Given the description of an element on the screen output the (x, y) to click on. 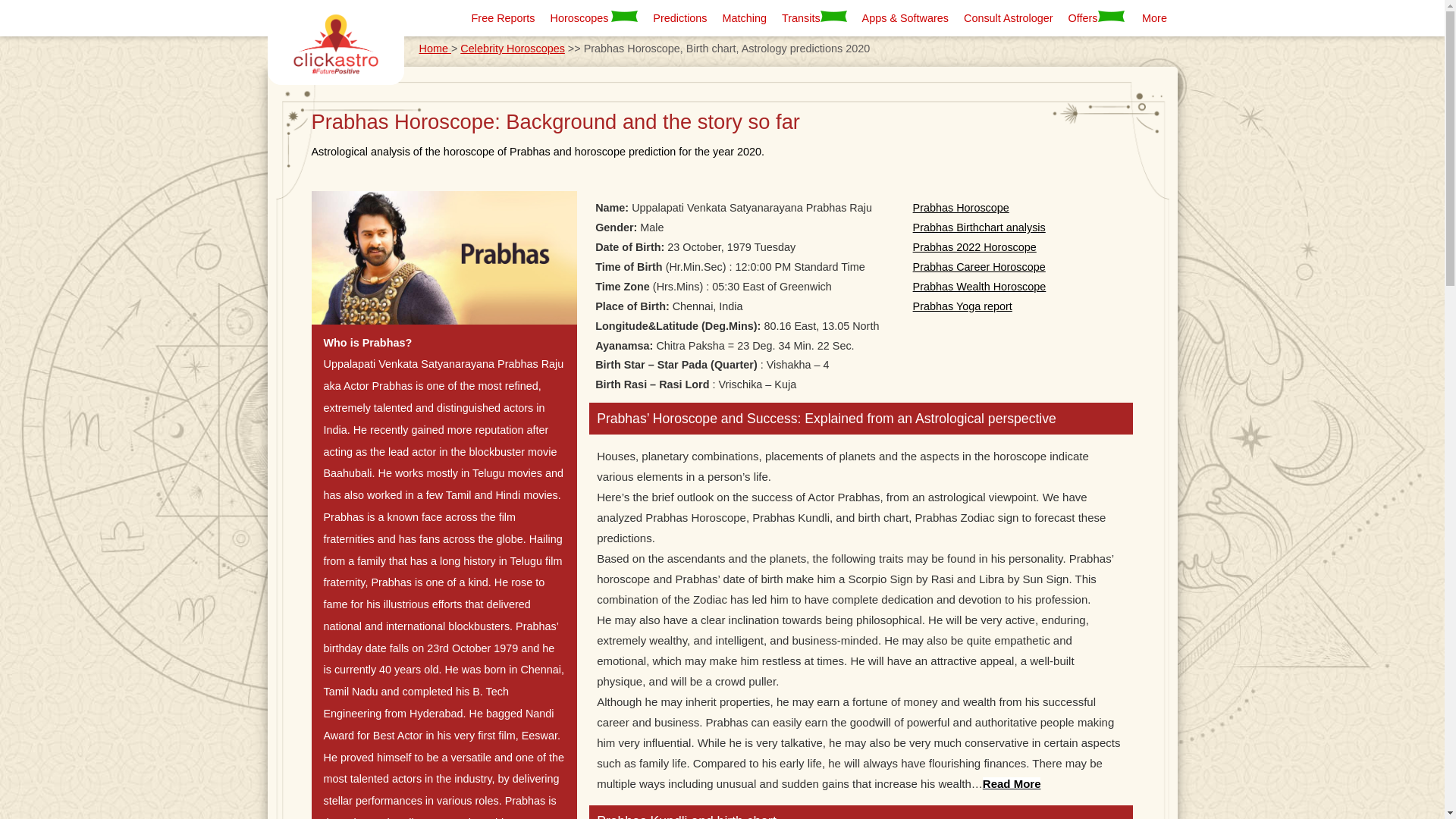
Free Reports (503, 17)
Prabhas horoscope (443, 256)
Predictions (679, 17)
Horoscopes (594, 17)
Matching (744, 17)
